Given the description of an element on the screen output the (x, y) to click on. 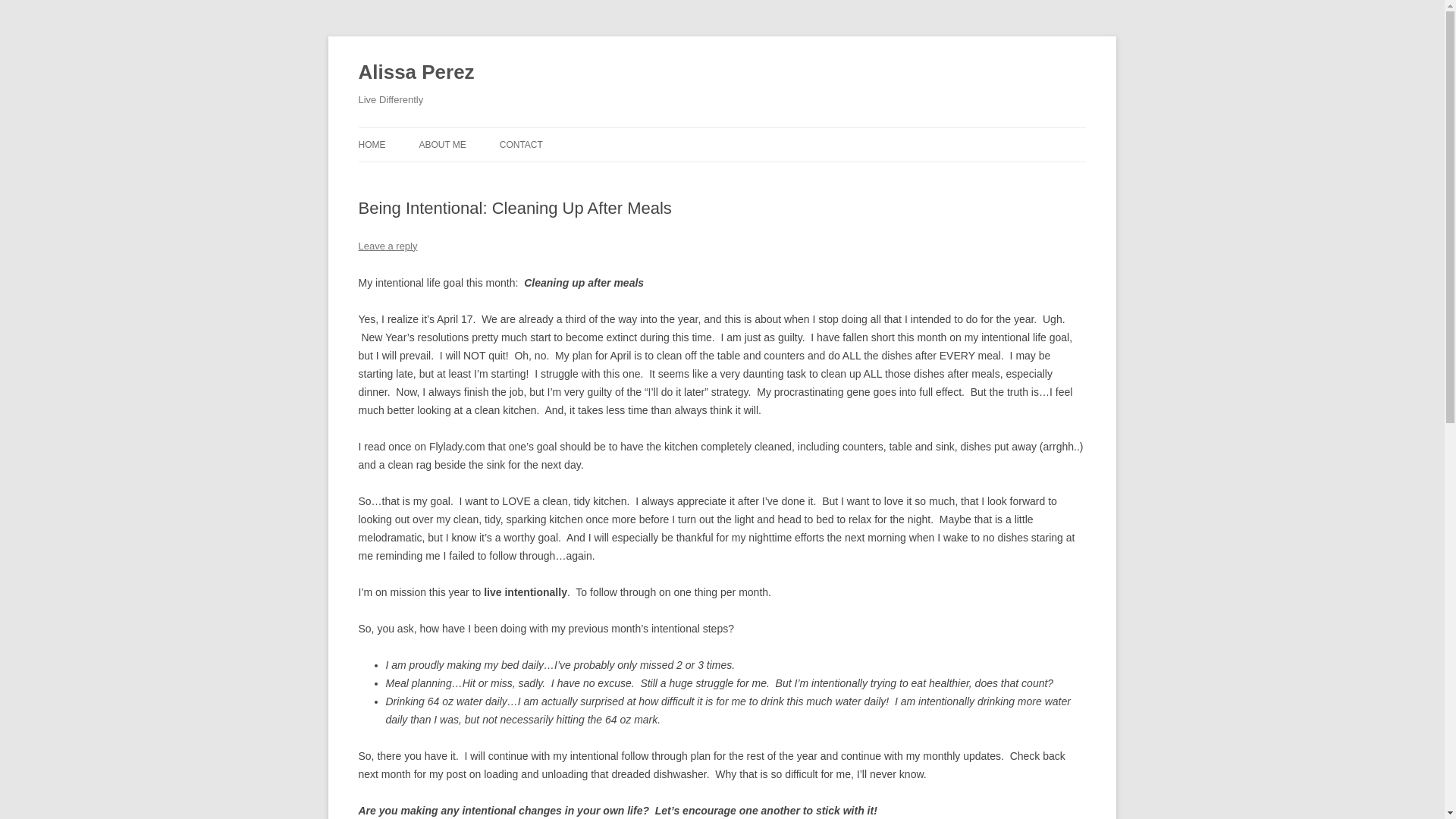
Leave a reply (387, 245)
CONTACT (521, 144)
Alissa Perez (416, 72)
Alissa Perez (416, 72)
ABOUT ME (442, 144)
HOME (371, 144)
